Given the description of an element on the screen output the (x, y) to click on. 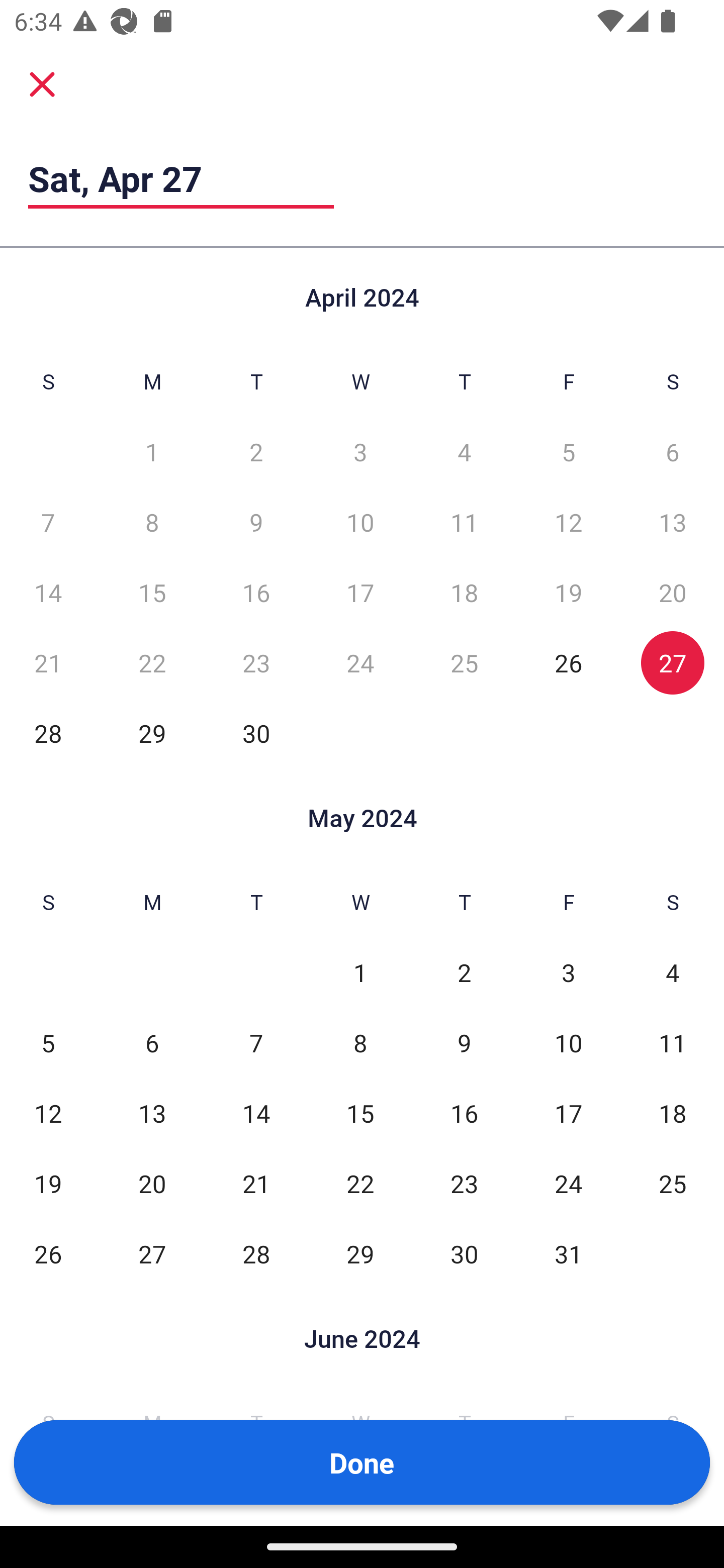
Cancel (41, 83)
Sat, Apr 27 (180, 178)
1 Mon, Apr 1, Not Selected (152, 452)
2 Tue, Apr 2, Not Selected (256, 452)
3 Wed, Apr 3, Not Selected (360, 452)
4 Thu, Apr 4, Not Selected (464, 452)
5 Fri, Apr 5, Not Selected (568, 452)
6 Sat, Apr 6, Not Selected (672, 452)
7 Sun, Apr 7, Not Selected (48, 521)
8 Mon, Apr 8, Not Selected (152, 521)
9 Tue, Apr 9, Not Selected (256, 521)
10 Wed, Apr 10, Not Selected (360, 521)
11 Thu, Apr 11, Not Selected (464, 521)
12 Fri, Apr 12, Not Selected (568, 521)
13 Sat, Apr 13, Not Selected (672, 521)
14 Sun, Apr 14, Not Selected (48, 591)
15 Mon, Apr 15, Not Selected (152, 591)
16 Tue, Apr 16, Not Selected (256, 591)
17 Wed, Apr 17, Not Selected (360, 591)
18 Thu, Apr 18, Not Selected (464, 591)
19 Fri, Apr 19, Not Selected (568, 591)
20 Sat, Apr 20, Not Selected (672, 591)
21 Sun, Apr 21, Not Selected (48, 662)
22 Mon, Apr 22, Not Selected (152, 662)
23 Tue, Apr 23, Not Selected (256, 662)
24 Wed, Apr 24, Not Selected (360, 662)
25 Thu, Apr 25, Not Selected (464, 662)
26 Fri, Apr 26, Not Selected (568, 662)
27 Sat, Apr 27, Selected (672, 662)
28 Sun, Apr 28, Not Selected (48, 732)
29 Mon, Apr 29, Not Selected (152, 732)
30 Tue, Apr 30, Not Selected (256, 732)
1 Wed, May 1, Not Selected (360, 972)
2 Thu, May 2, Not Selected (464, 972)
3 Fri, May 3, Not Selected (568, 972)
4 Sat, May 4, Not Selected (672, 972)
5 Sun, May 5, Not Selected (48, 1043)
6 Mon, May 6, Not Selected (152, 1043)
7 Tue, May 7, Not Selected (256, 1043)
8 Wed, May 8, Not Selected (360, 1043)
9 Thu, May 9, Not Selected (464, 1043)
10 Fri, May 10, Not Selected (568, 1043)
11 Sat, May 11, Not Selected (672, 1043)
12 Sun, May 12, Not Selected (48, 1112)
13 Mon, May 13, Not Selected (152, 1112)
14 Tue, May 14, Not Selected (256, 1112)
15 Wed, May 15, Not Selected (360, 1112)
16 Thu, May 16, Not Selected (464, 1112)
17 Fri, May 17, Not Selected (568, 1112)
18 Sat, May 18, Not Selected (672, 1112)
19 Sun, May 19, Not Selected (48, 1182)
20 Mon, May 20, Not Selected (152, 1182)
21 Tue, May 21, Not Selected (256, 1182)
22 Wed, May 22, Not Selected (360, 1182)
23 Thu, May 23, Not Selected (464, 1182)
24 Fri, May 24, Not Selected (568, 1182)
25 Sat, May 25, Not Selected (672, 1182)
26 Sun, May 26, Not Selected (48, 1253)
27 Mon, May 27, Not Selected (152, 1253)
28 Tue, May 28, Not Selected (256, 1253)
29 Wed, May 29, Not Selected (360, 1253)
30 Thu, May 30, Not Selected (464, 1253)
31 Fri, May 31, Not Selected (568, 1253)
Done Button Done (361, 1462)
